Given the description of an element on the screen output the (x, y) to click on. 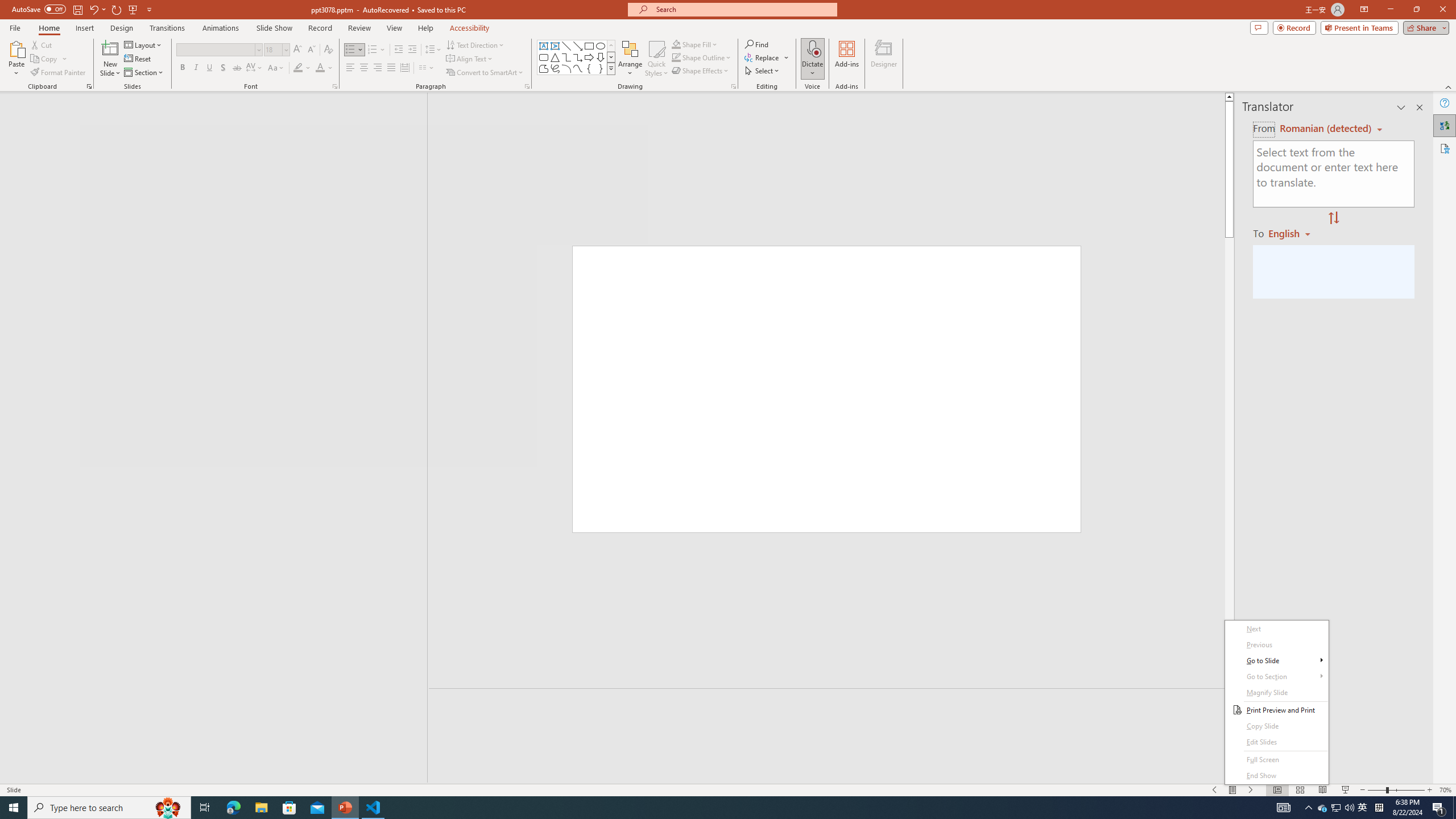
Context Menu (1276, 701)
